Given the description of an element on the screen output the (x, y) to click on. 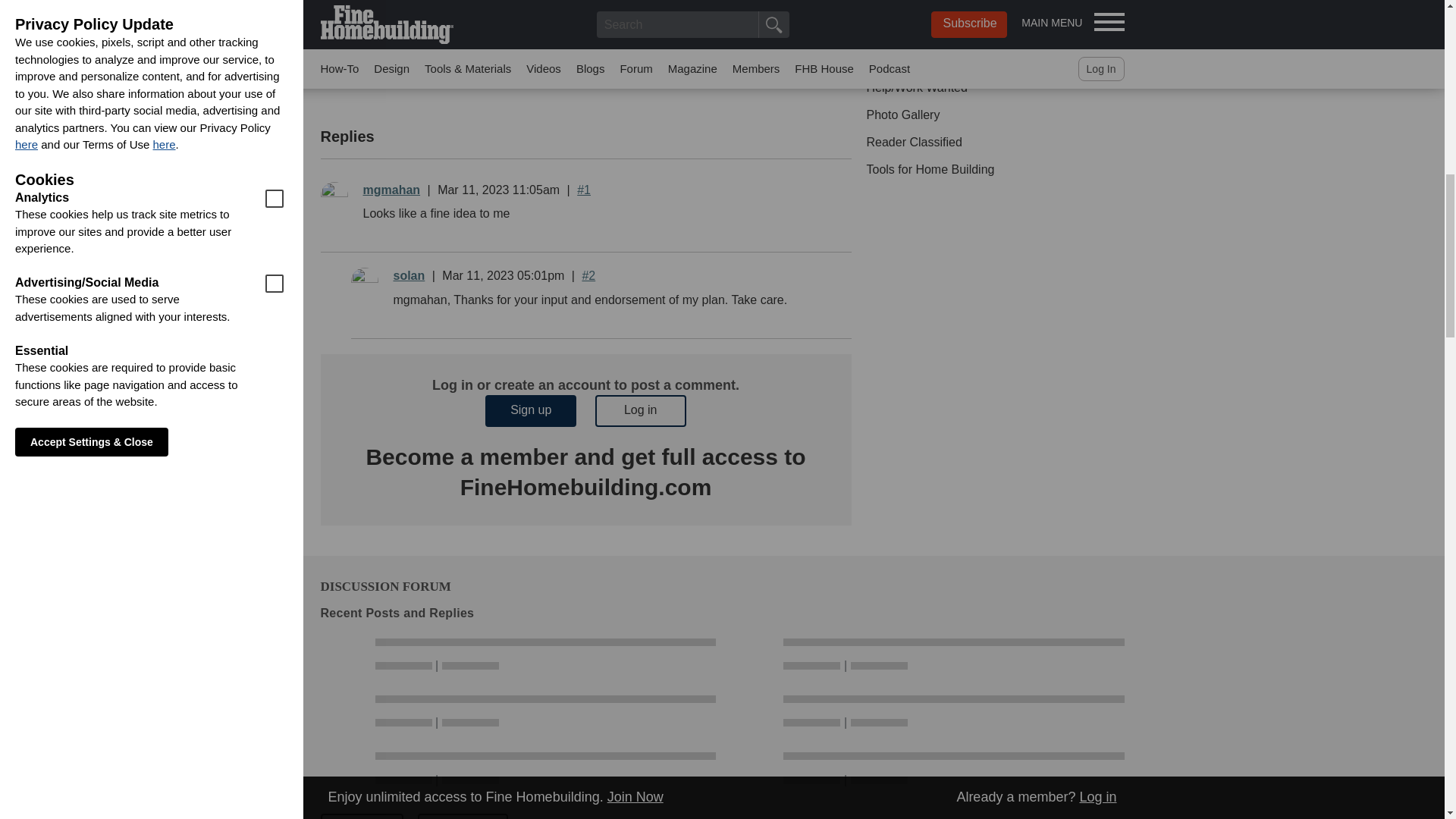
X (410, 72)
solan (409, 275)
Log in (640, 410)
pinterest (504, 72)
add to favorites (566, 72)
linkedin (472, 72)
Sign up (530, 410)
Become a member (466, 456)
facebook (441, 72)
email (534, 72)
